Given the description of an element on the screen output the (x, y) to click on. 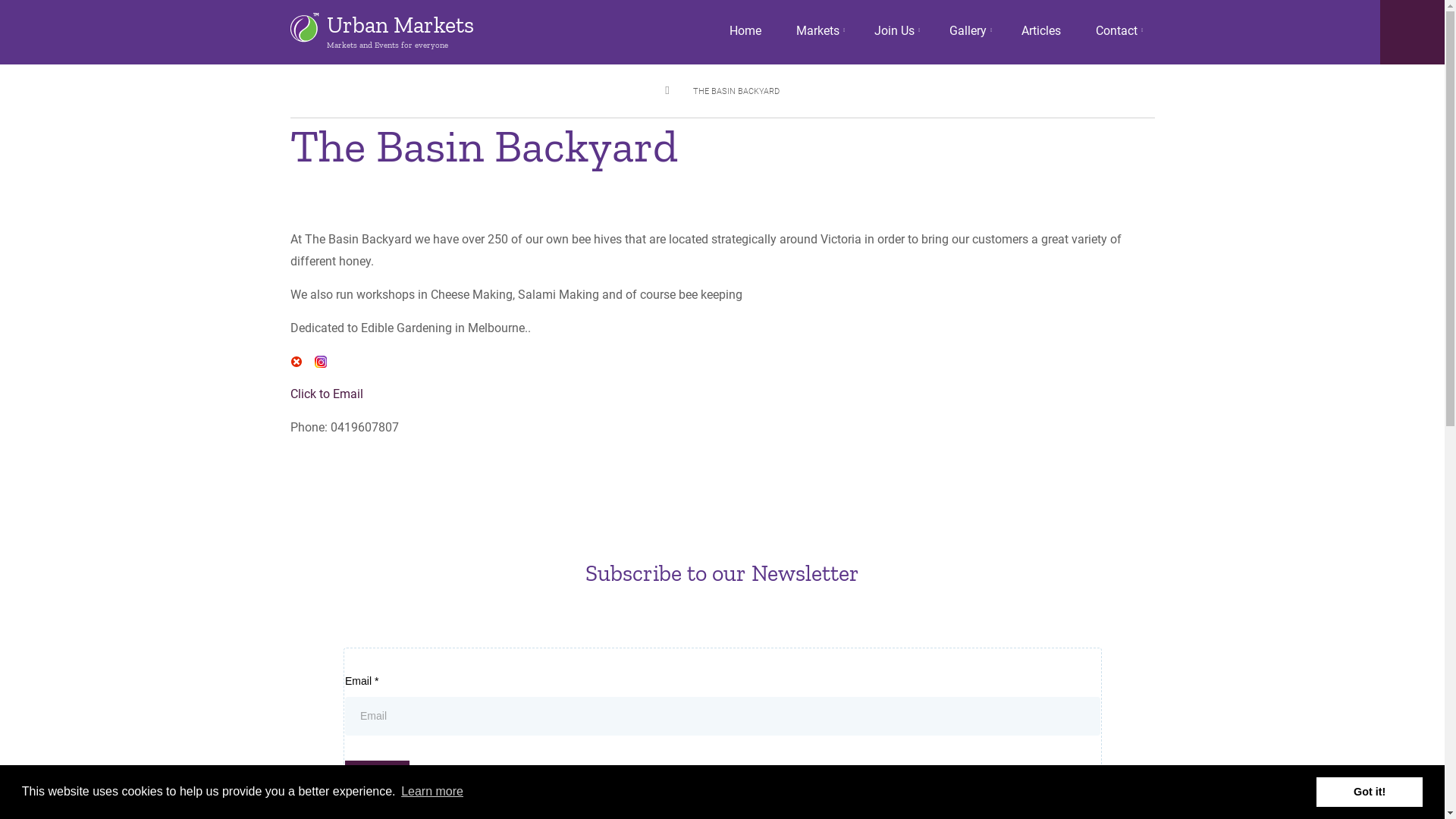
Home Element type: hover (303, 26)
Urban Markets Element type: text (399, 24)
Learn more Element type: text (431, 791)
Got it! Element type: text (1369, 791)
Skip to main content Element type: text (0, 0)
Articles Element type: text (1040, 30)
Click to Email Element type: text (325, 393)
Home Element type: text (744, 30)
